Given the description of an element on the screen output the (x, y) to click on. 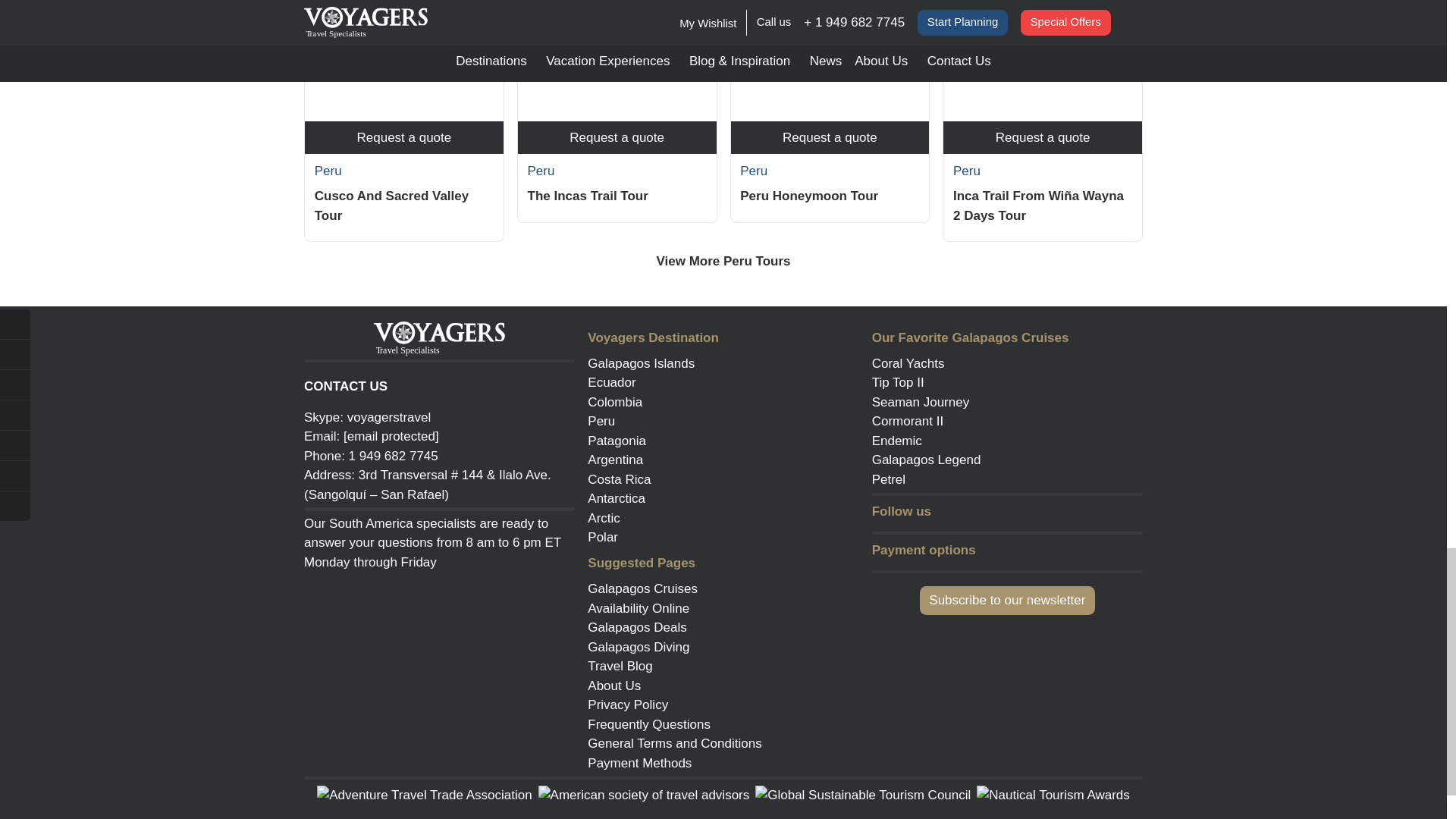
Peru Honeymoon Tour (830, 60)
Cusco and Sacred Valley Tour (403, 60)
The Incas Trail Tour (617, 60)
